Given the description of an element on the screen output the (x, y) to click on. 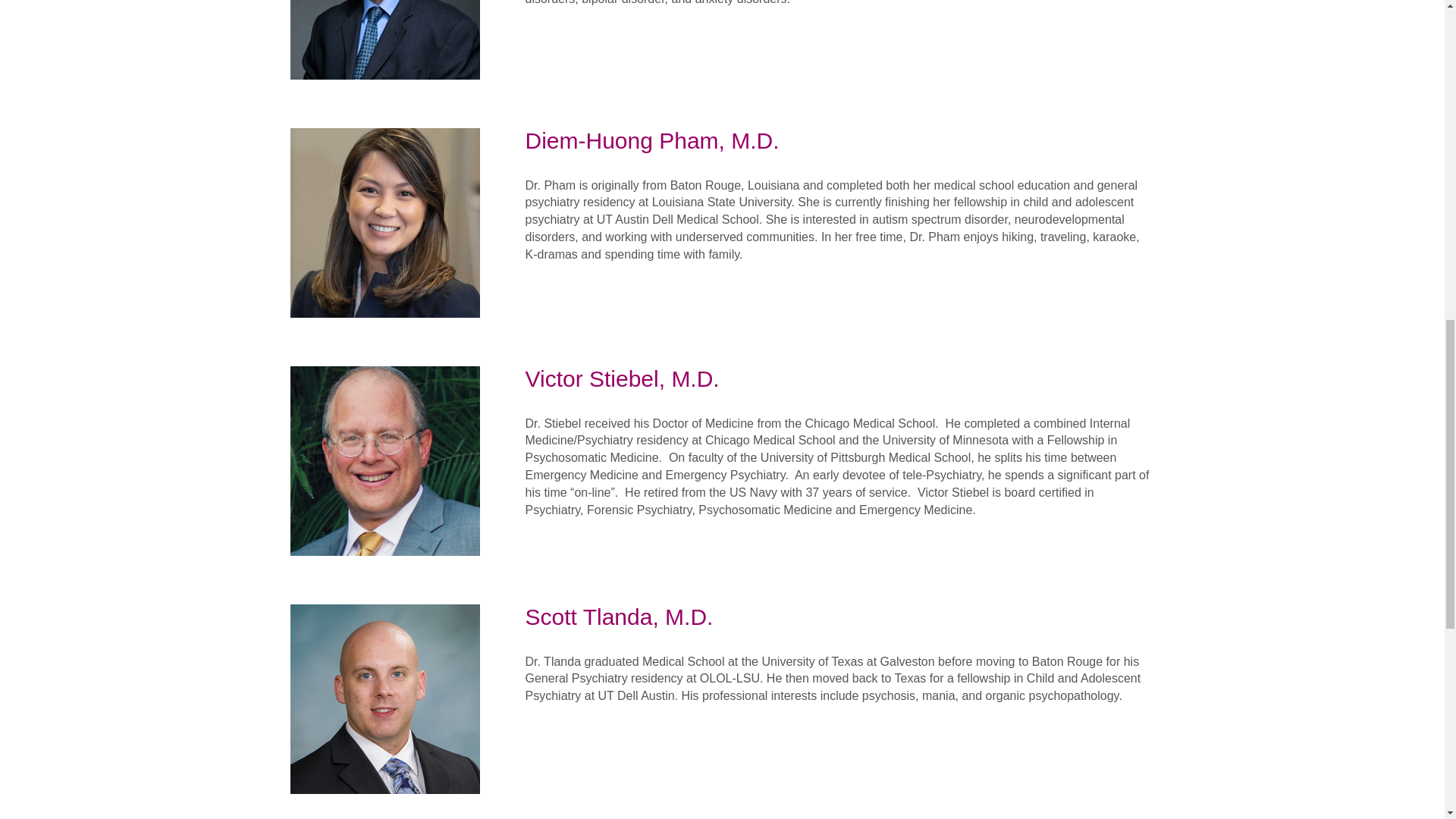
Victor Stiebel, M.D. (384, 460)
Scott Tlanda, M.D. (384, 698)
Diem-Huong Pham, M.D. (384, 221)
Jon Hulkower, M.D. (384, 39)
